Given the description of an element on the screen output the (x, y) to click on. 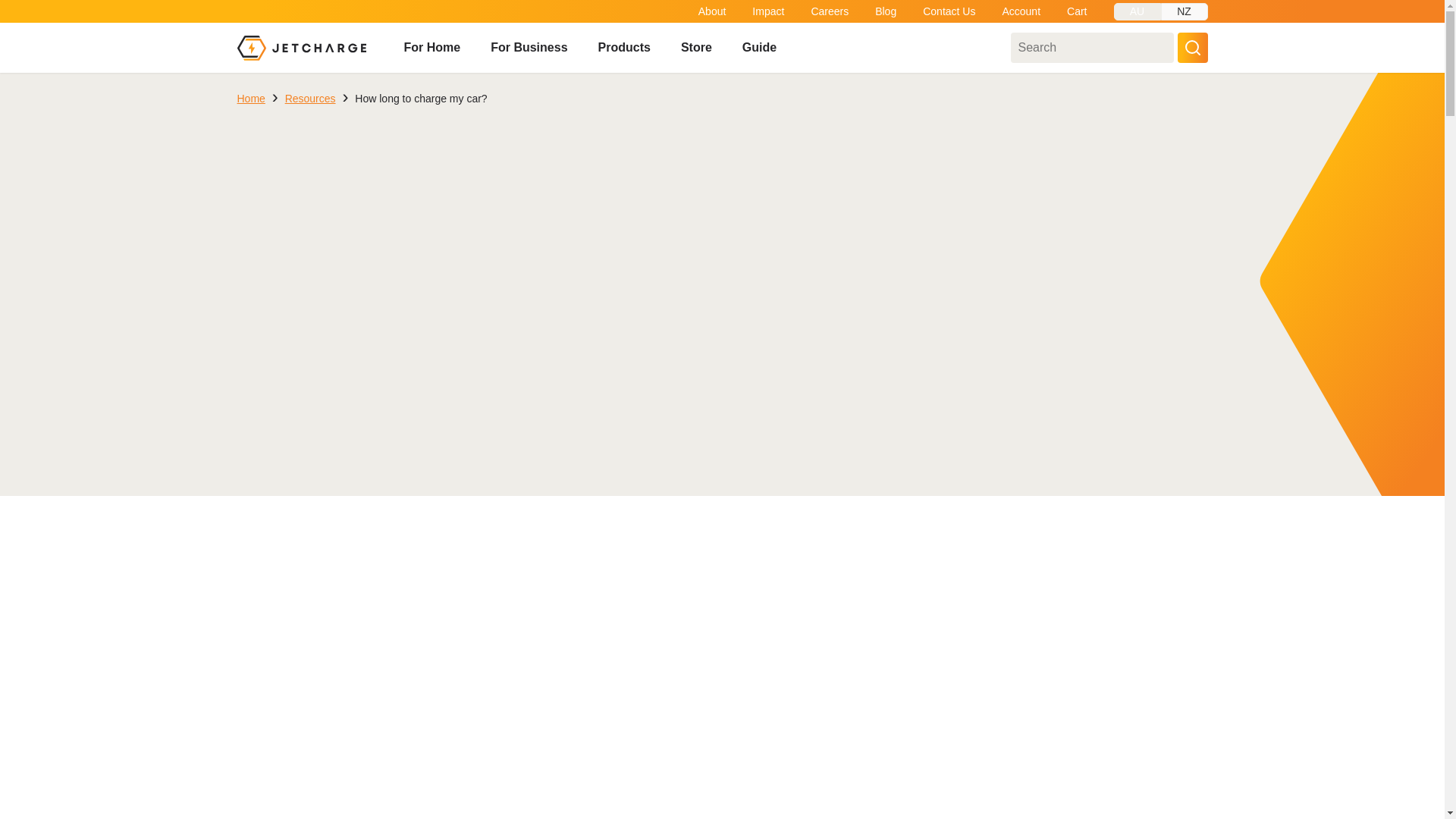
About (712, 10)
NZ (1183, 11)
AU (1136, 11)
Guide (759, 47)
Store (696, 47)
For Home (431, 47)
Account (1021, 10)
Contact Us (949, 10)
Cart (1076, 10)
JET Charge Homepage (300, 47)
